Given the description of an element on the screen output the (x, y) to click on. 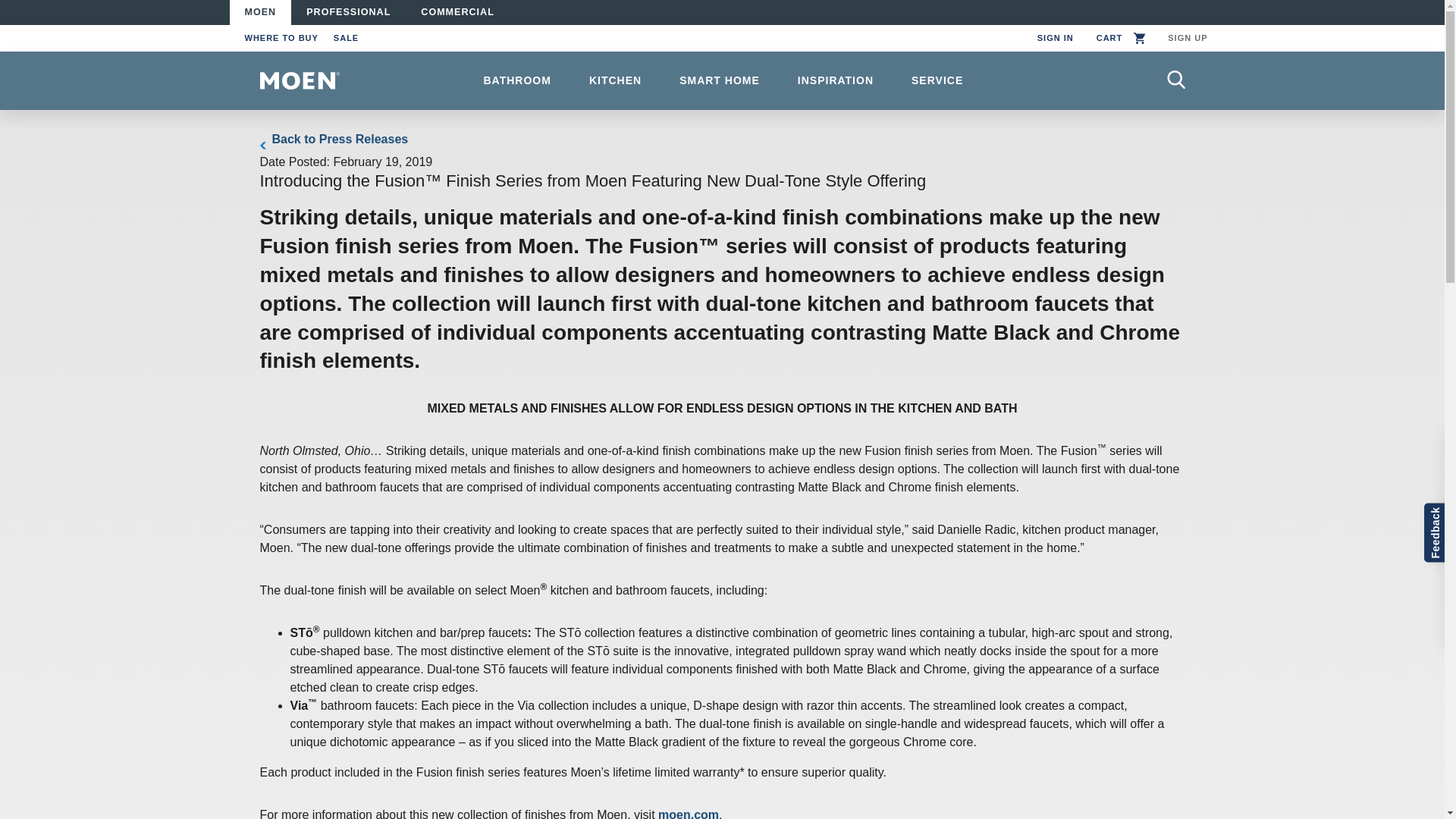
PROFESSIONAL (348, 12)
BATHROOM (516, 80)
SIGN IN (1055, 38)
SALE (346, 38)
KITCHEN (615, 80)
WHERE TO BUY (279, 38)
SIGN UP (1187, 38)
COMMERCIAL (457, 12)
Go to Your Shopping Cart (1120, 37)
